Given the description of an element on the screen output the (x, y) to click on. 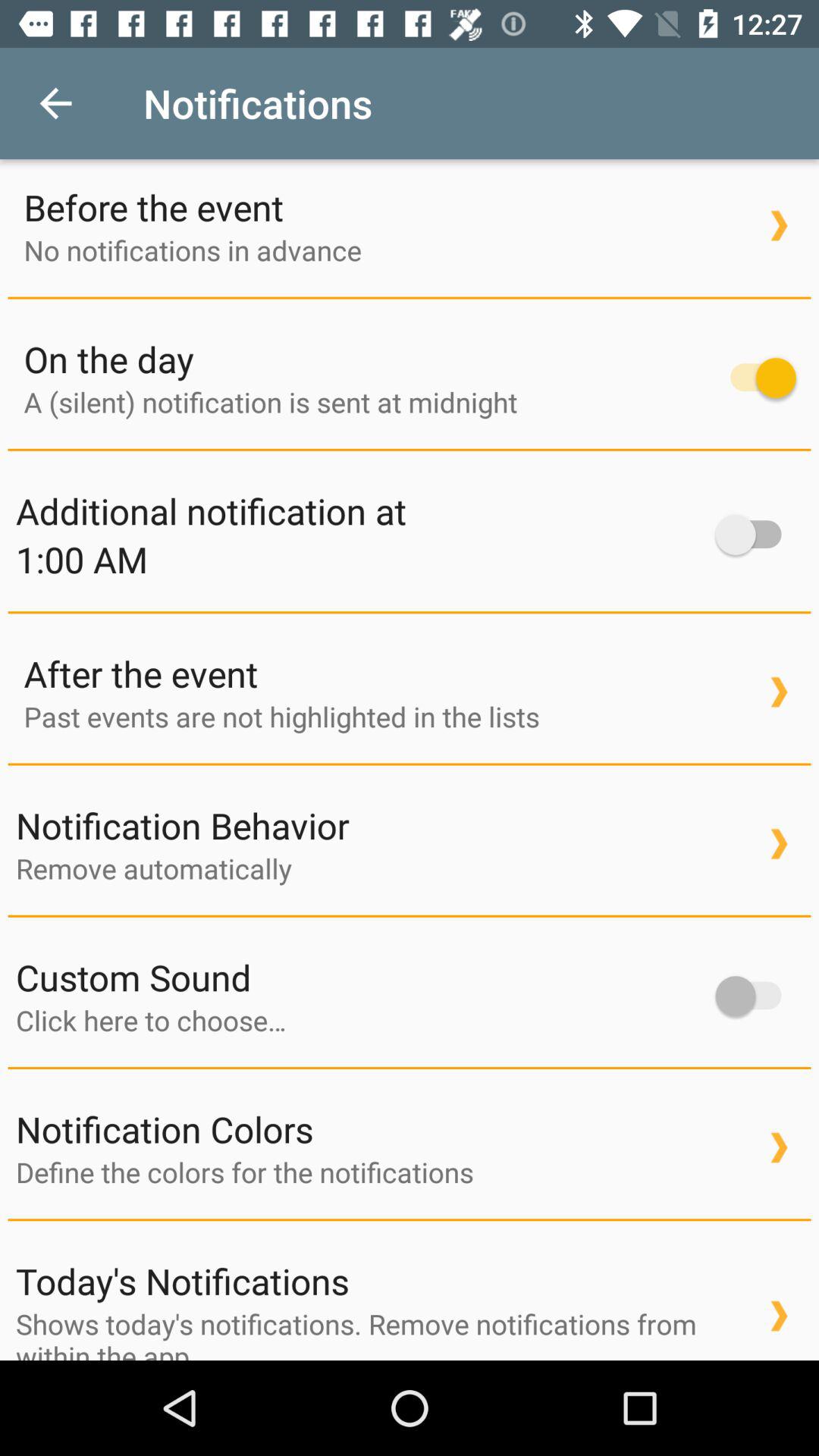
launch icon next to notifications icon (55, 103)
